Given the description of an element on the screen output the (x, y) to click on. 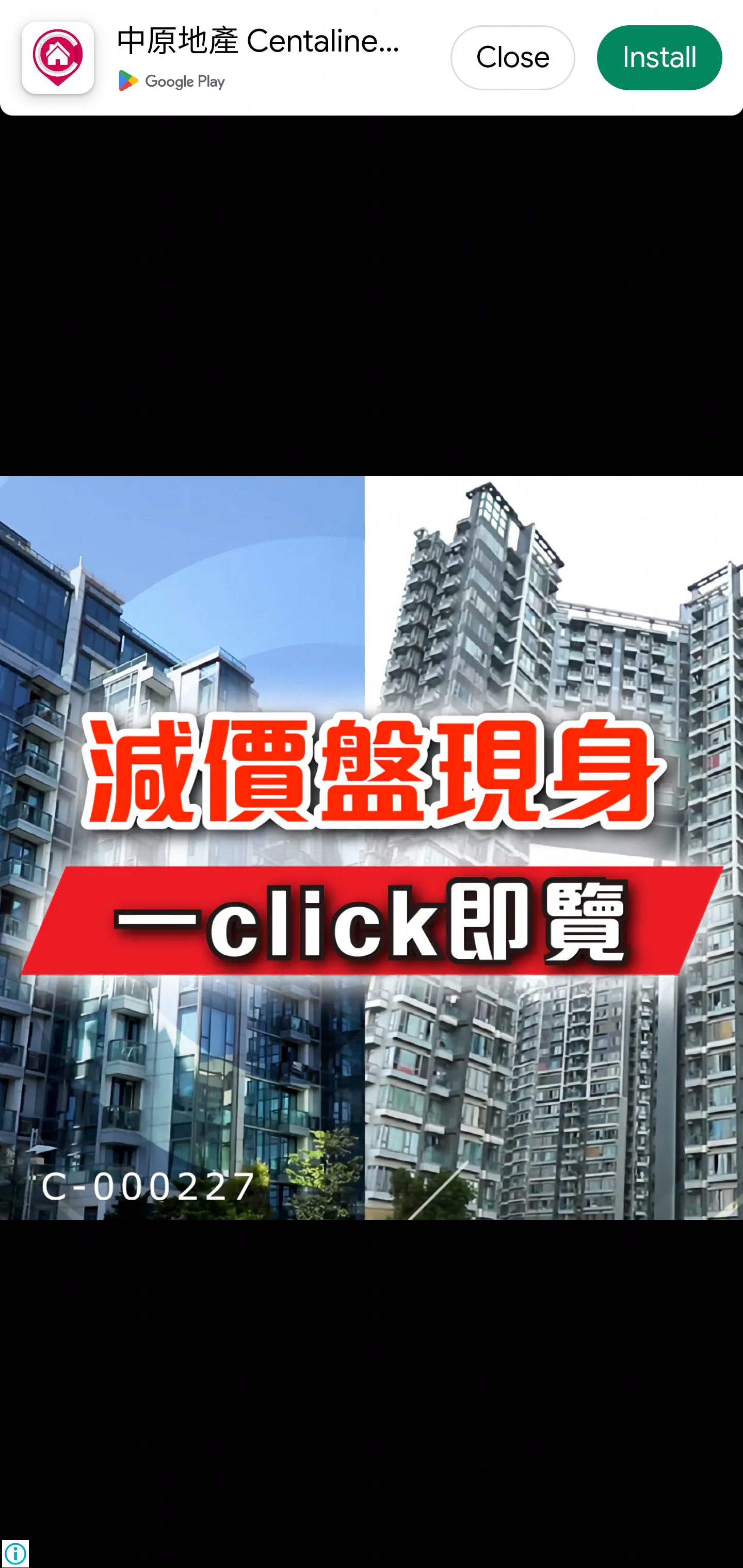
Close (512, 58)
Install (659, 58)
